Given the description of an element on the screen output the (x, y) to click on. 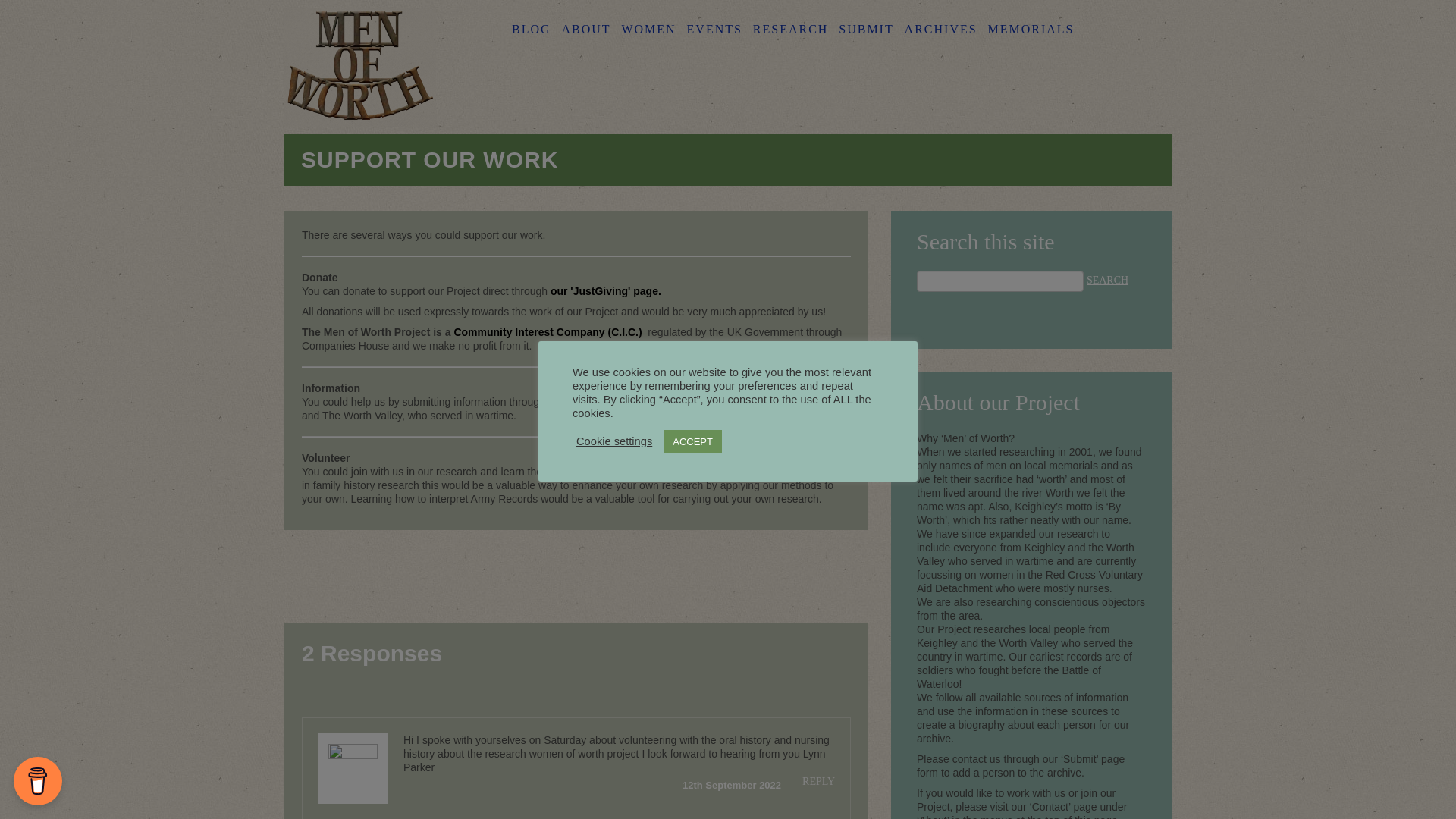
WOMEN (648, 29)
EVENTS (714, 29)
BLOG (531, 29)
search (1107, 280)
ABOUT (585, 29)
The Men of Worth Project (359, 66)
search (1107, 280)
